Given the description of an element on the screen output the (x, y) to click on. 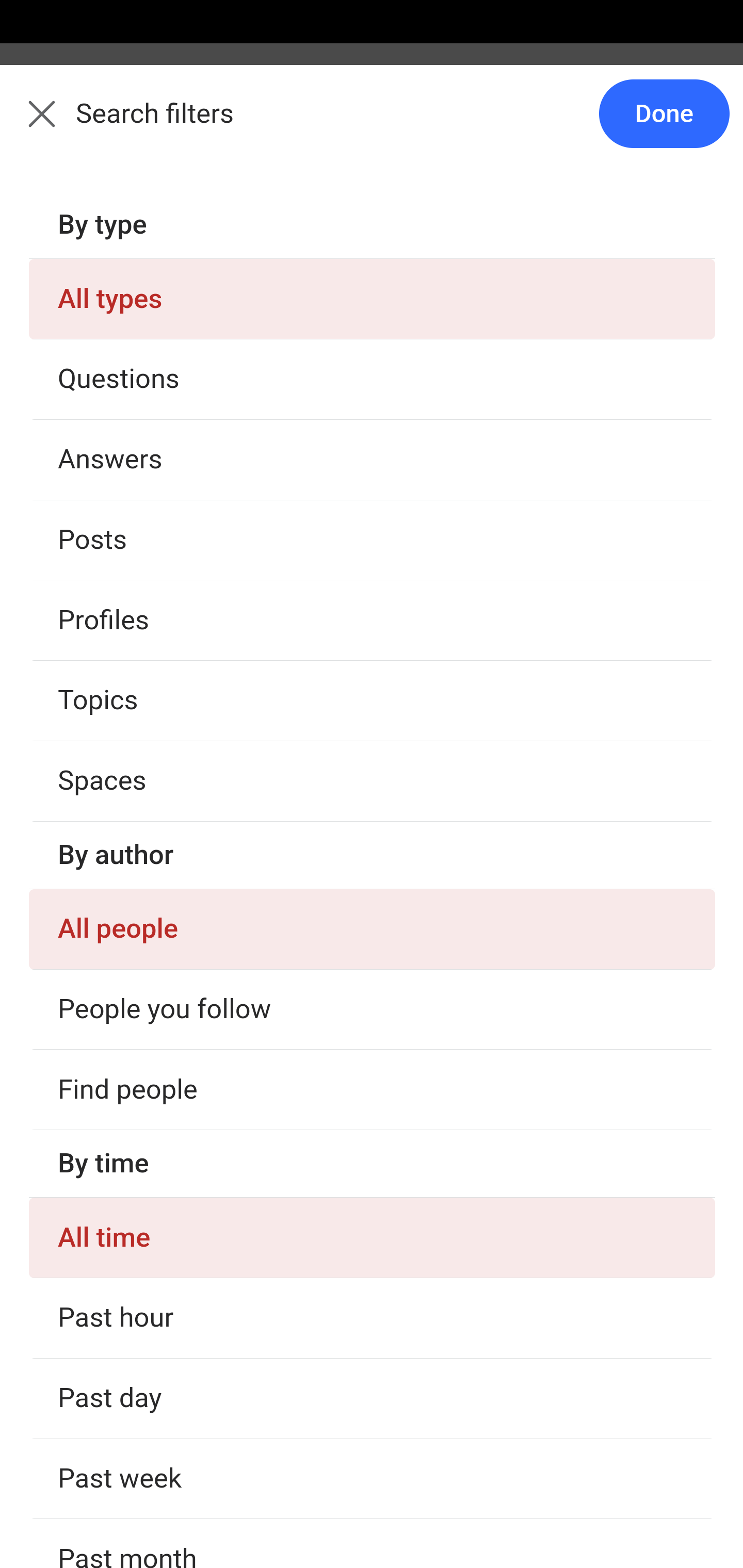
Back Search (371, 125)
Back (30, 125)
194 answers 194  answers (90, 458)
Why did NVIDIA win the GPU market? (372, 1092)
